Given the description of an element on the screen output the (x, y) to click on. 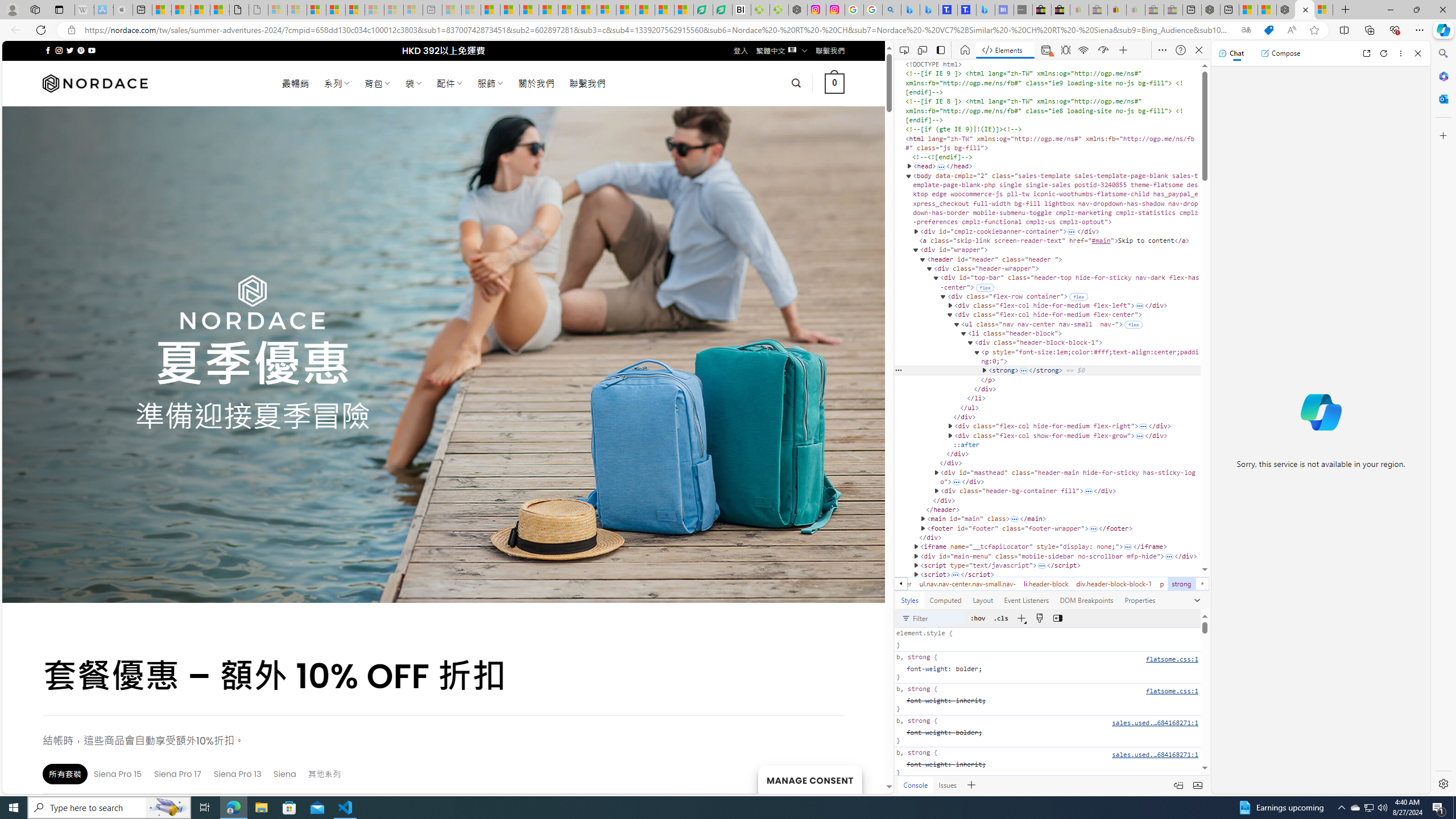
Microsoft Services Agreement - Sleeping (296, 9)
Properties (1139, 599)
Browser essentials (1394, 29)
  0   (834, 83)
Computed (945, 599)
Wikipedia - Sleeping (84, 9)
Split screen (1344, 29)
Console (915, 784)
Siena Pro 15 (117, 773)
 0  (834, 83)
